Given the description of an element on the screen output the (x, y) to click on. 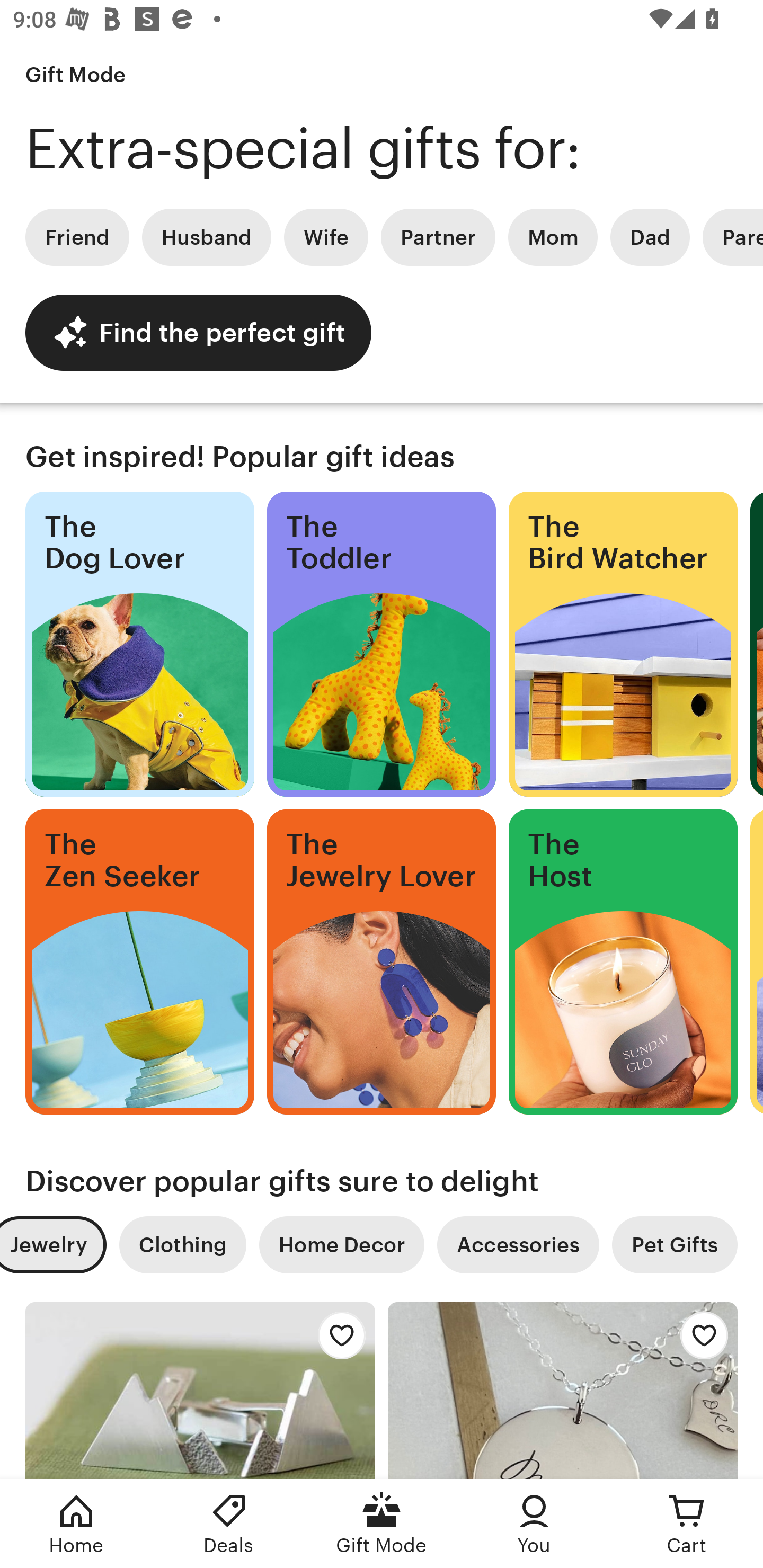
Friend (76, 237)
Husband (206, 237)
Wife (325, 237)
Partner (437, 237)
Mom (552, 237)
Dad (649, 237)
Find the perfect gift (198, 332)
The Dog Lover (139, 644)
The Toddler (381, 644)
The Bird Watcher (622, 644)
The Zen Seeker (139, 961)
The Jewelry Lover (381, 961)
The Host (622, 961)
Jewelry (53, 1244)
Clothing (182, 1244)
Home Decor (341, 1244)
Accessories (517, 1244)
Pet Gifts (674, 1244)
Home (76, 1523)
Deals (228, 1523)
You (533, 1523)
Cart (686, 1523)
